Given the description of an element on the screen output the (x, y) to click on. 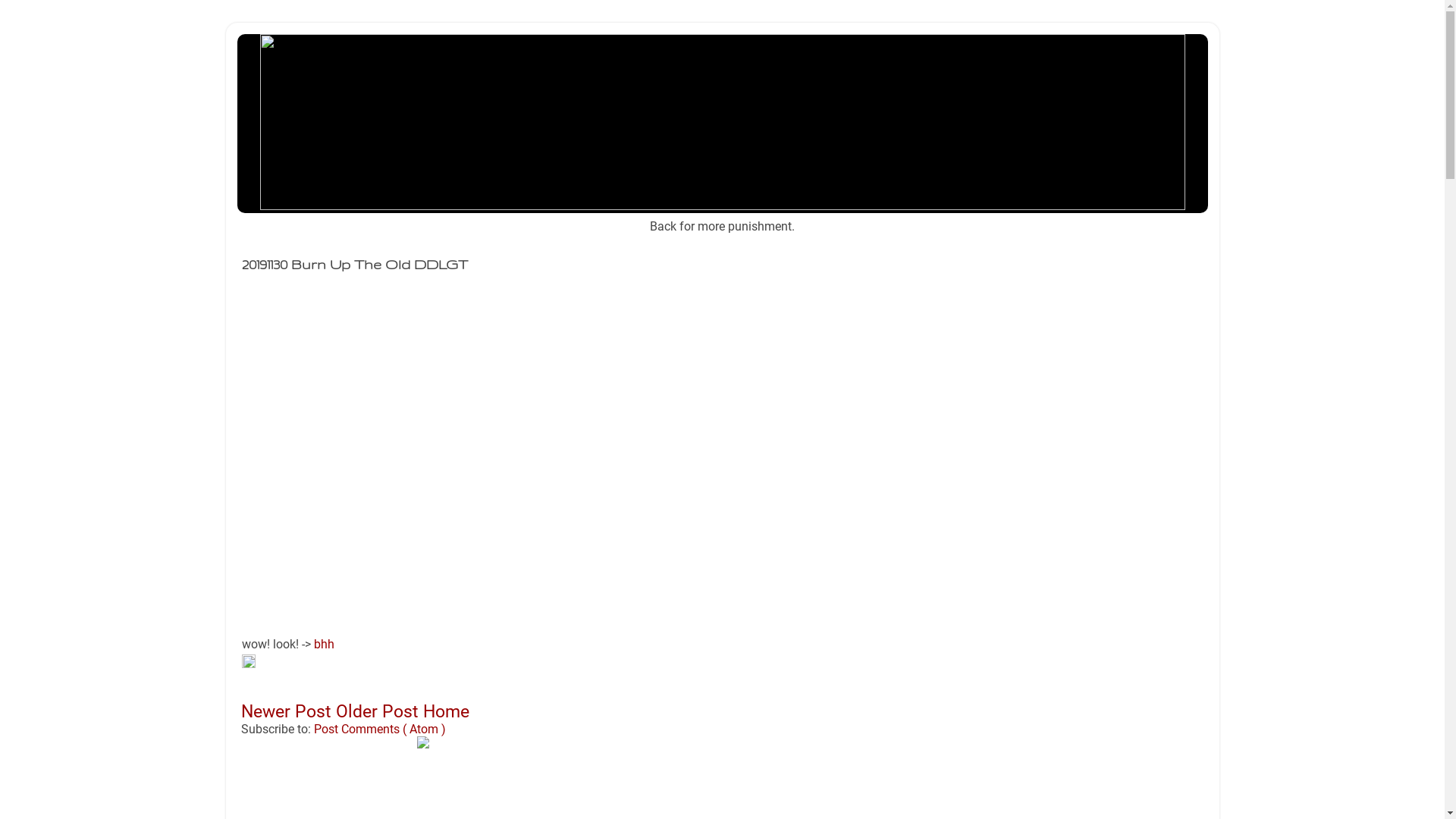
Older Post Element type: text (378, 711)
Home Element type: text (446, 711)
Newer Post Element type: text (288, 711)
Post Comments ( Atom ) Element type: text (379, 728)
bhh Element type: text (323, 644)
Edit Post Element type: hover (247, 663)
